Given the description of an element on the screen output the (x, y) to click on. 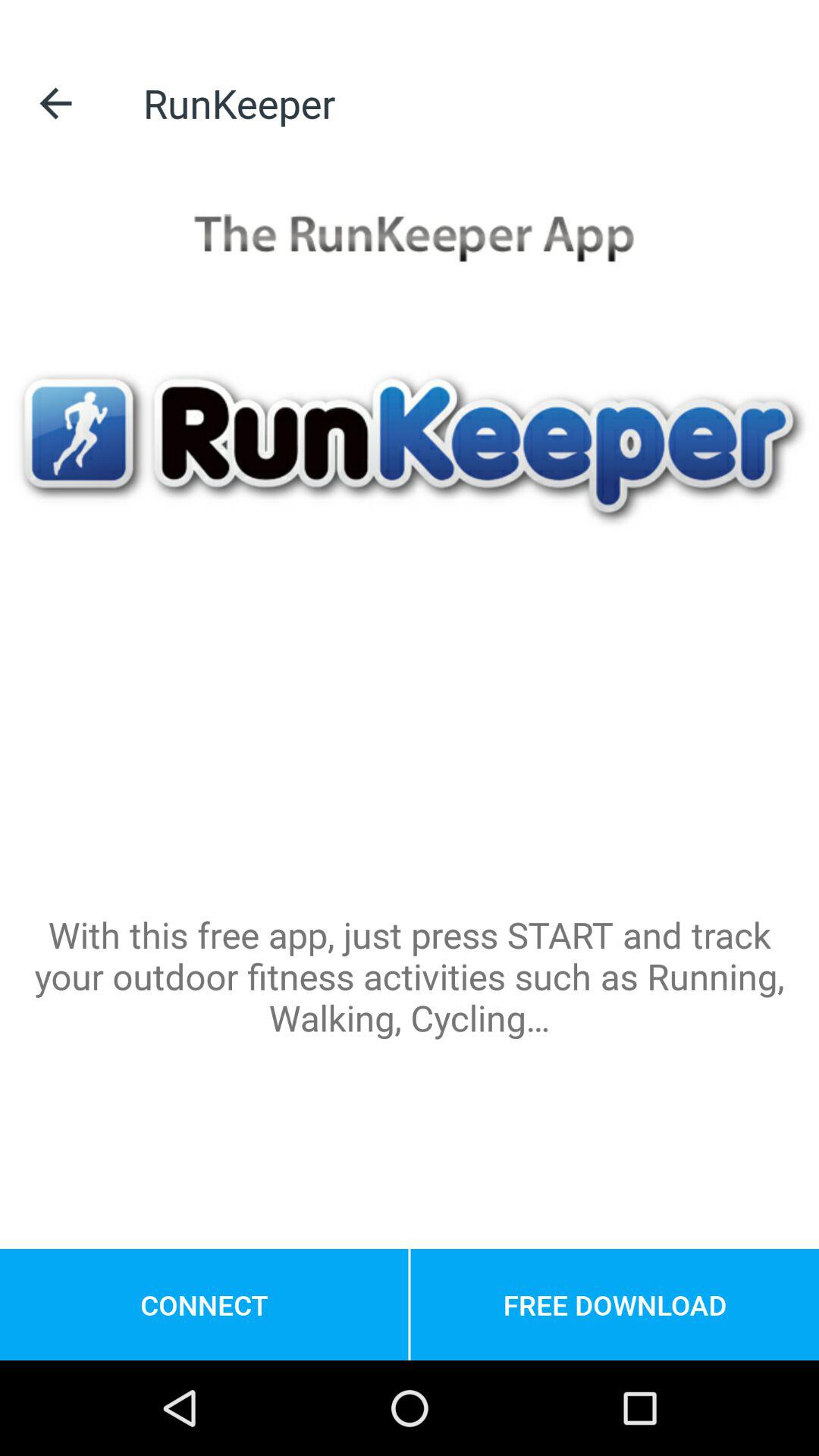
swipe to the connect icon (204, 1304)
